Given the description of an element on the screen output the (x, y) to click on. 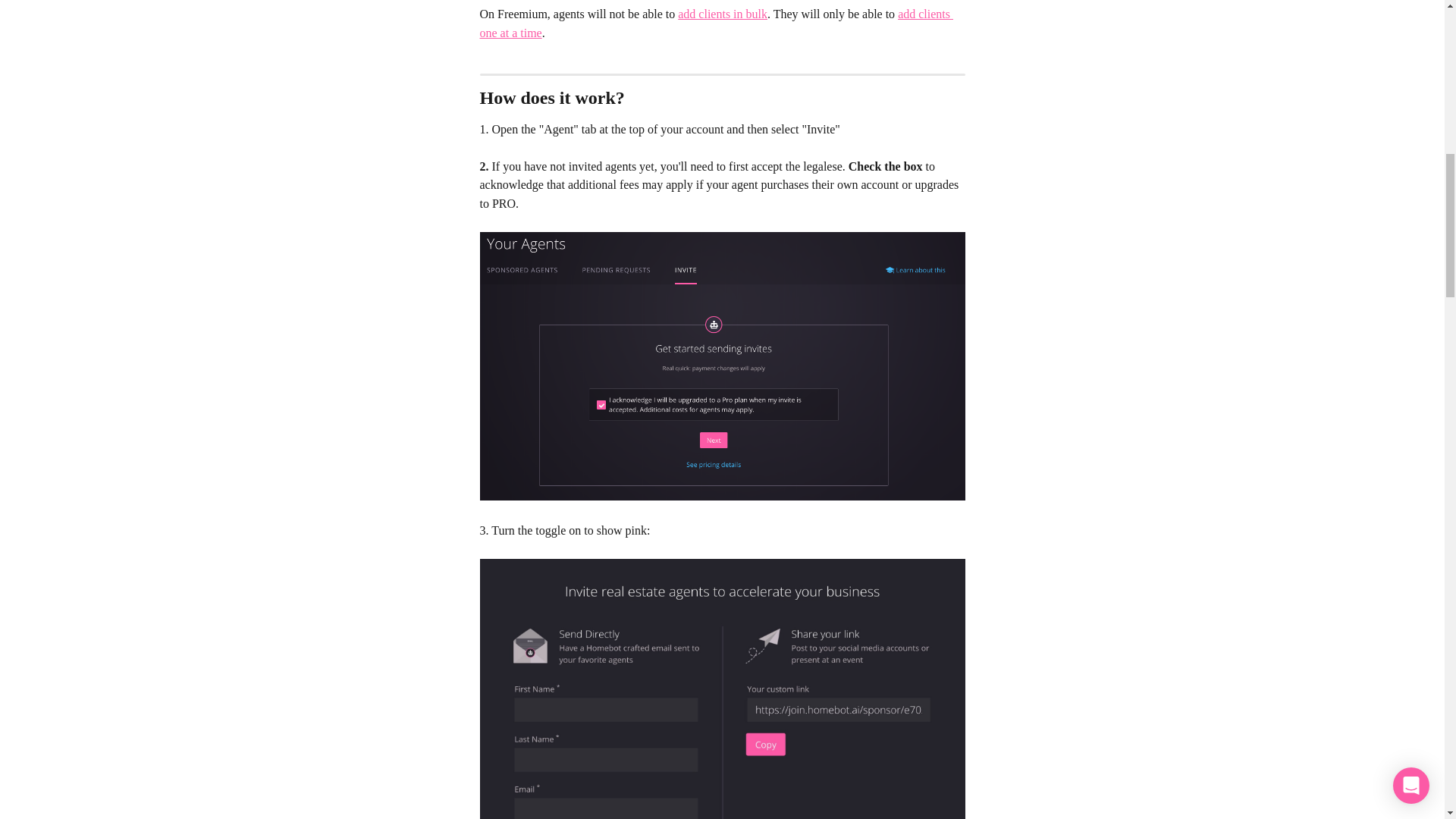
add clients one at a time (716, 22)
add clients in bulk (722, 13)
